Given the description of an element on the screen output the (x, y) to click on. 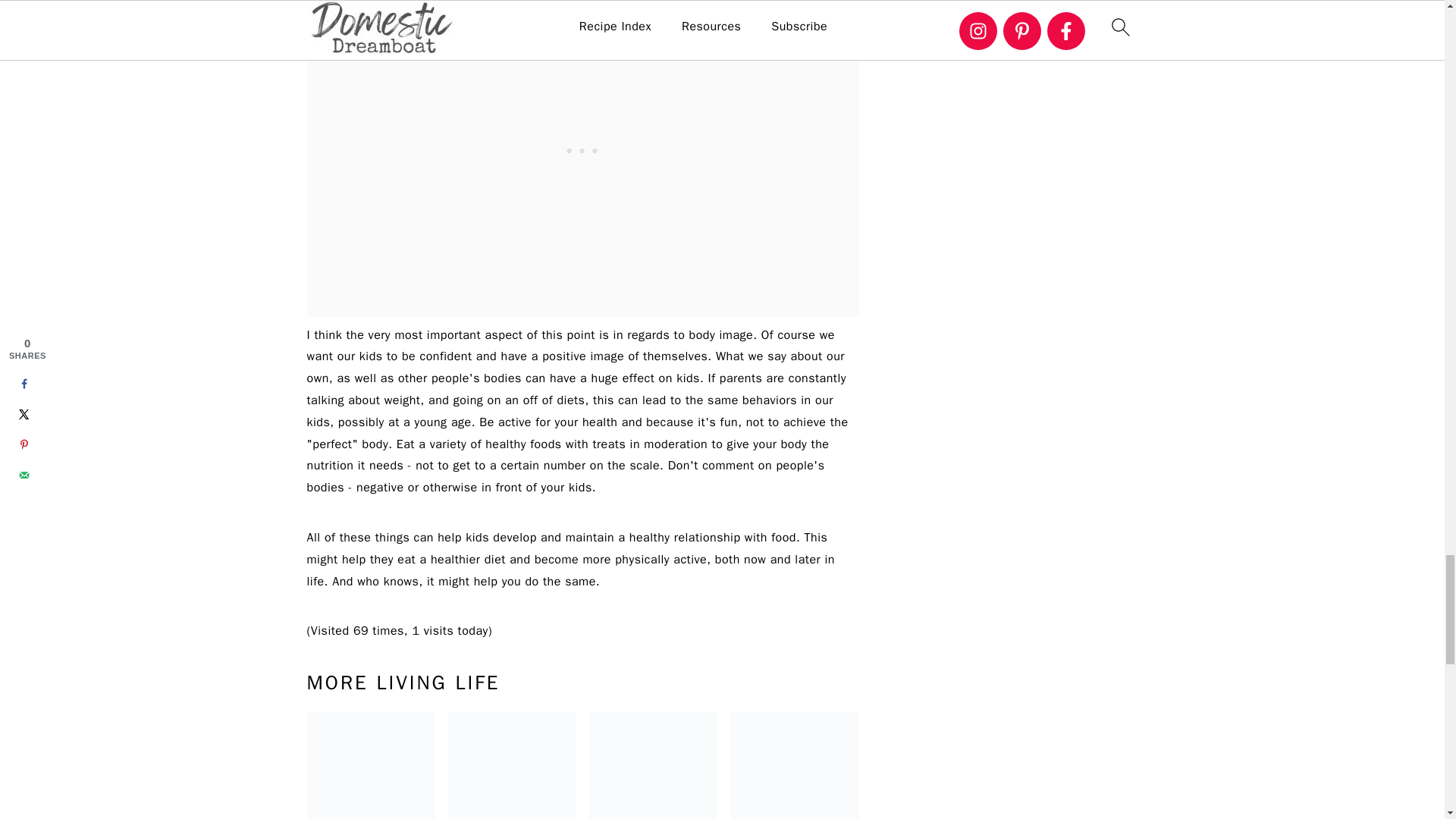
Family Vacation to Riviera Maya (369, 765)
Family Vacation to Riviera Maya (369, 765)
A Week in San Francisco (512, 765)
A Week in San Francisco (512, 765)
Merry Christmas from Domestic Dreamboat! (653, 765)
Merry Christmas from Domestic Dreamboat! (653, 765)
How to Make Your Own Baby Food (794, 765)
